Given the description of an element on the screen output the (x, y) to click on. 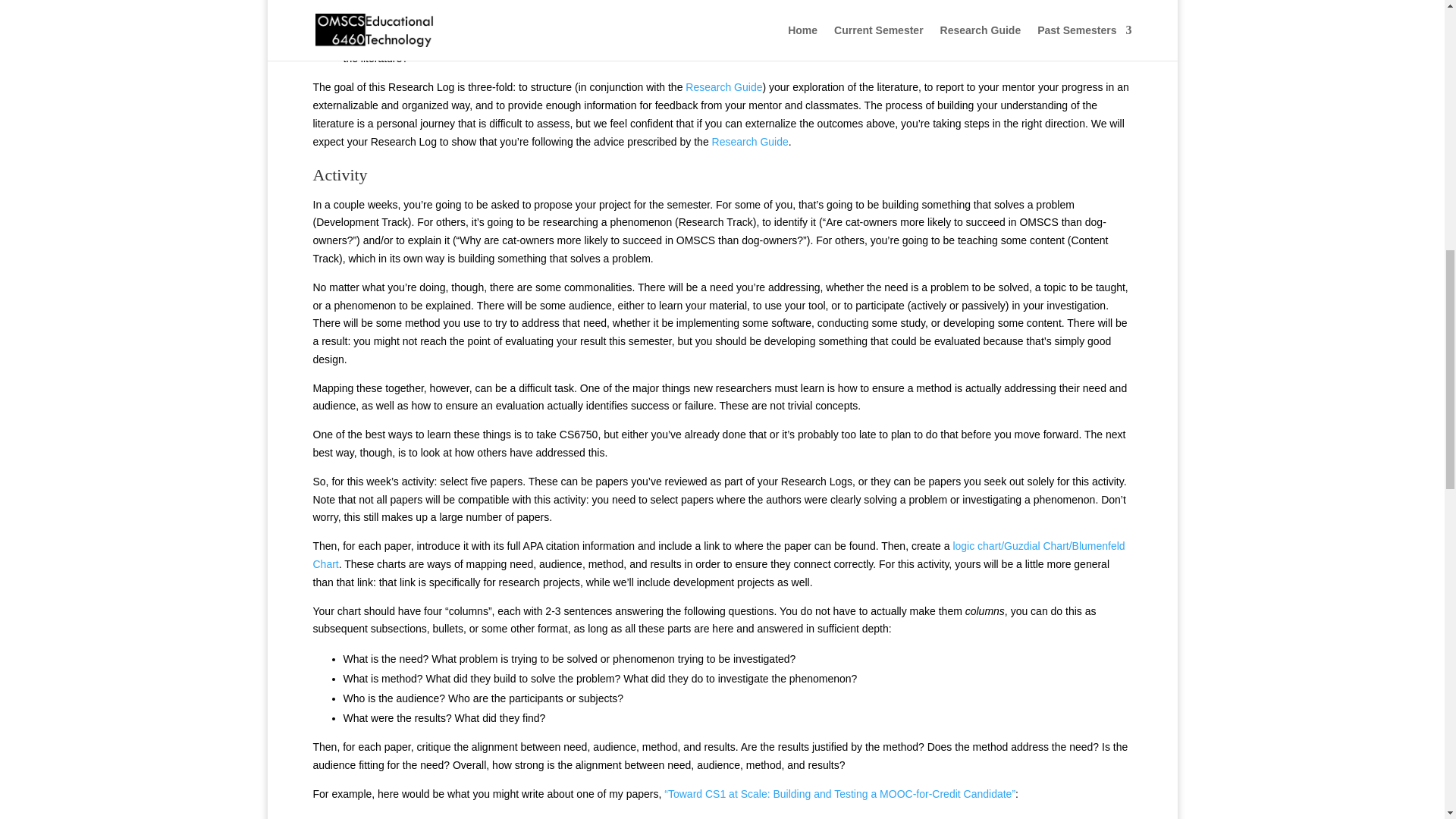
Research Guide (750, 141)
Research Guide (723, 87)
